Given the description of an element on the screen output the (x, y) to click on. 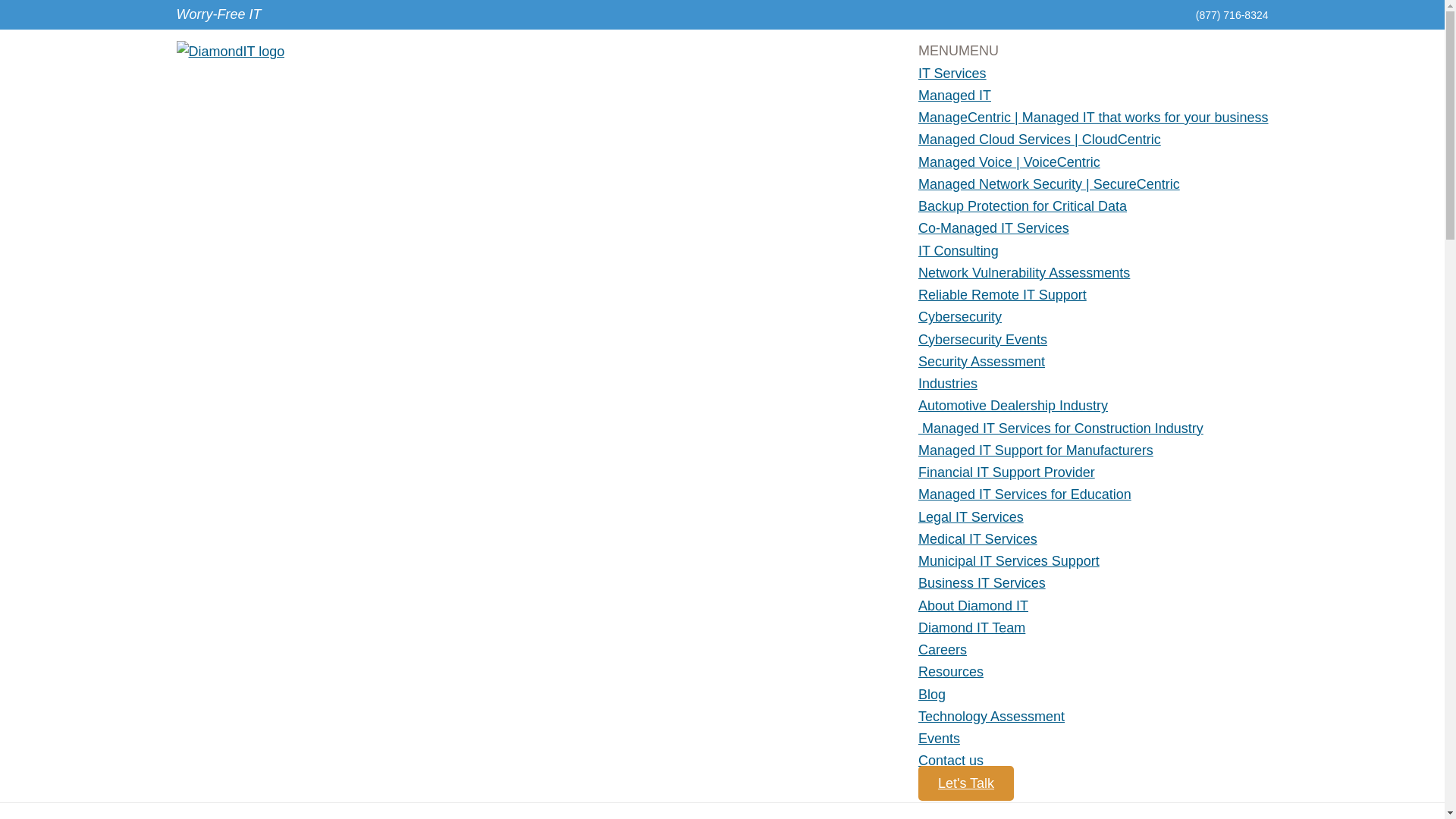
Municipal IT Services Support (1008, 560)
Reliable Remote IT Support (1002, 294)
Managed IT Services for Education (1024, 494)
IT Services (952, 72)
Industries (947, 383)
Blog (931, 694)
Network Vulnerability Assessments (1023, 272)
Business IT Services (981, 582)
Backup Protection for Critical Data (1022, 206)
Technology Assessment (991, 716)
Let's Talk (965, 782)
Cybersecurity (959, 316)
Automotive Dealership Industry (1013, 405)
Resources (951, 671)
Co-Managed IT Services (993, 227)
